Given the description of an element on the screen output the (x, y) to click on. 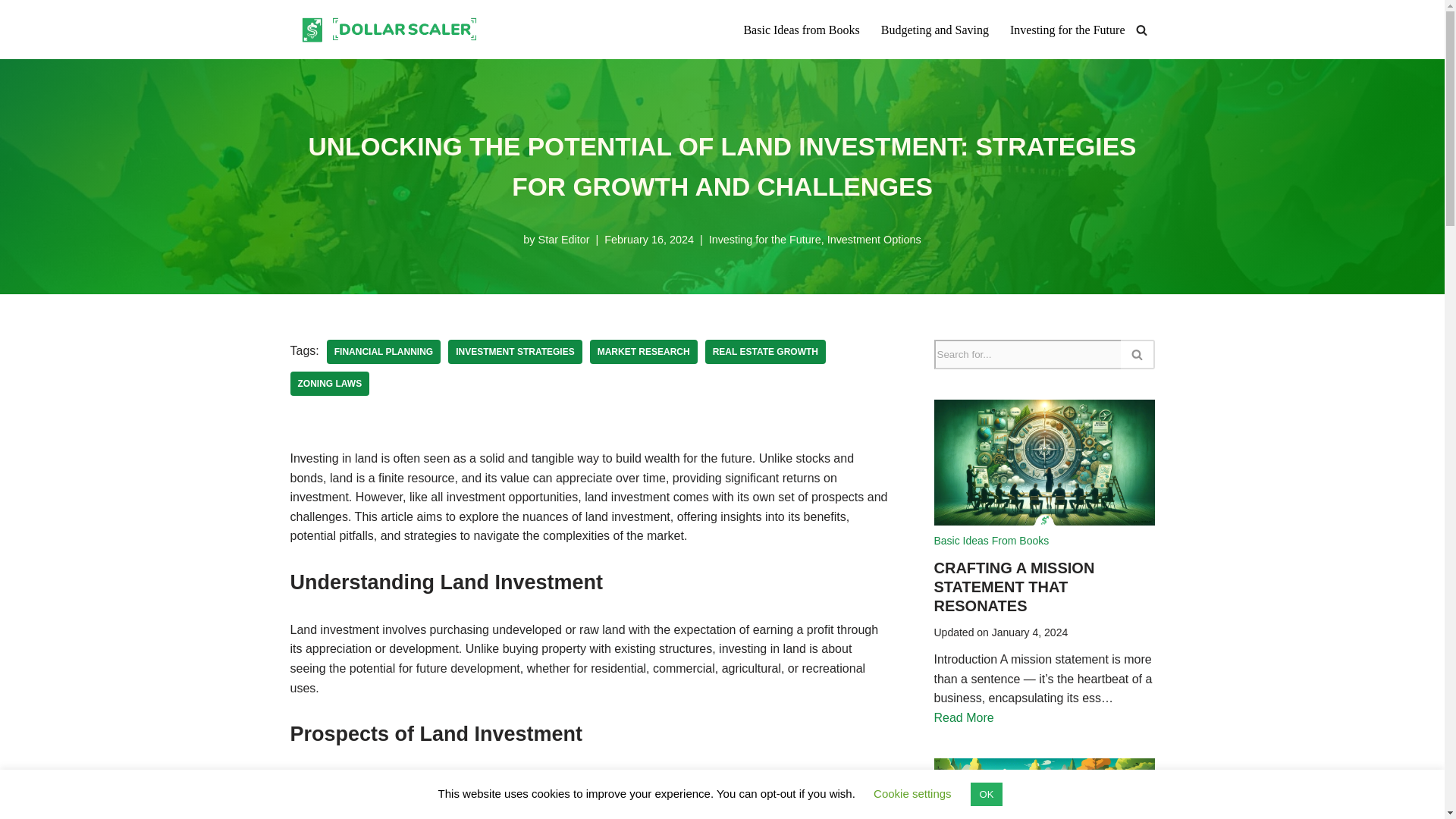
REAL ESTATE GROWTH (764, 351)
Investing for the Future (765, 239)
Investment Options (874, 239)
financial planning (383, 351)
Read More (964, 717)
Star Editor (563, 239)
Market Research (643, 351)
Basic Ideas from Books (800, 29)
MARKET RESEARCH (643, 351)
INVESTMENT STRATEGIES (514, 351)
ZONING LAWS (329, 383)
Investing for the Future (1067, 29)
investment strategies (514, 351)
Skip to content (11, 31)
Zoning Laws (329, 383)
